Given the description of an element on the screen output the (x, y) to click on. 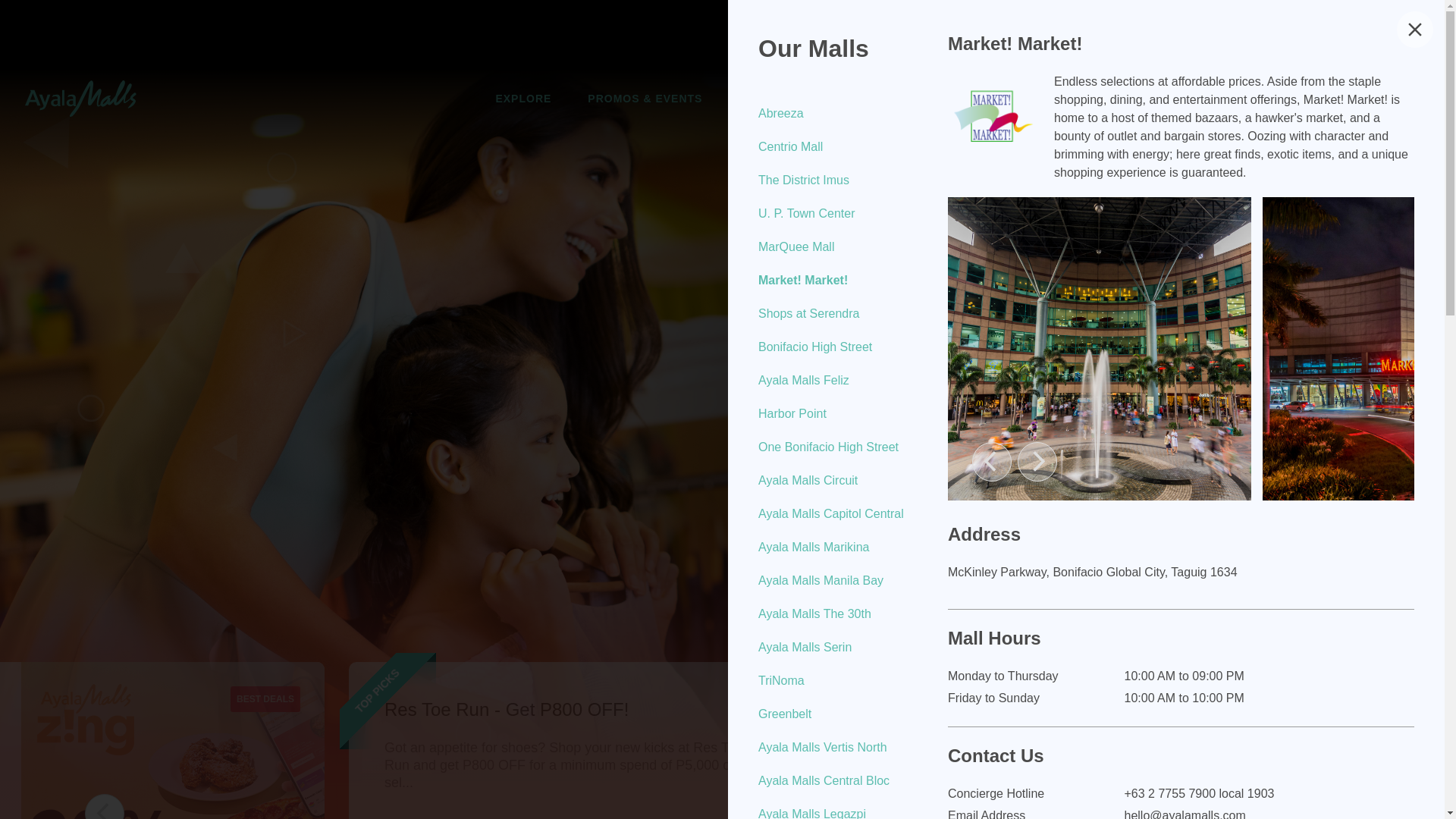
Advertisement (727, 33)
SIGN-UP NOW! (1338, 98)
CINEMAS (765, 97)
MORE (943, 97)
REWARDS (859, 97)
EXPLORE (523, 97)
